Given the description of an element on the screen output the (x, y) to click on. 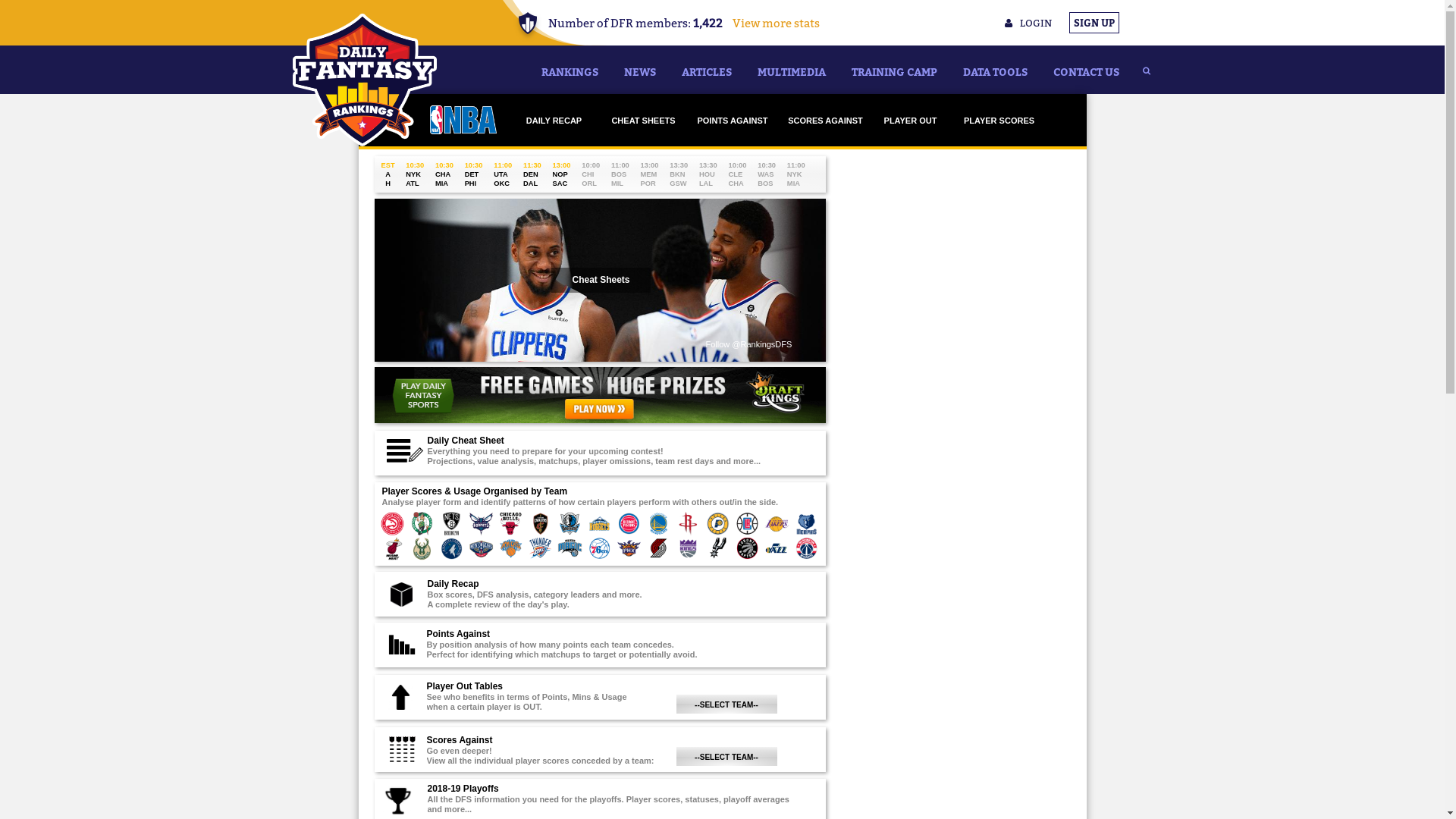
View more stats Element type: text (771, 22)
TRAINING CAMP Element type: text (894, 69)
CONTACT US Element type: text (1086, 69)
MULTIMEDIA Element type: text (791, 69)
RANKINGS Element type: text (568, 69)
POINTS AGAINST Element type: text (731, 120)
DATA TOOLS Element type: text (994, 69)
NEWS Element type: text (639, 69)
LOGIN Element type: text (1027, 22)
SIGN UP Element type: text (1094, 22)
DAILY RECAP Element type: text (554, 120)
ARTICLES Element type: text (706, 69)
A Twitter List by RankingsDFS Element type: text (905, 153)
Follow @RankingsDFS Element type: text (748, 343)
